Given the description of an element on the screen output the (x, y) to click on. 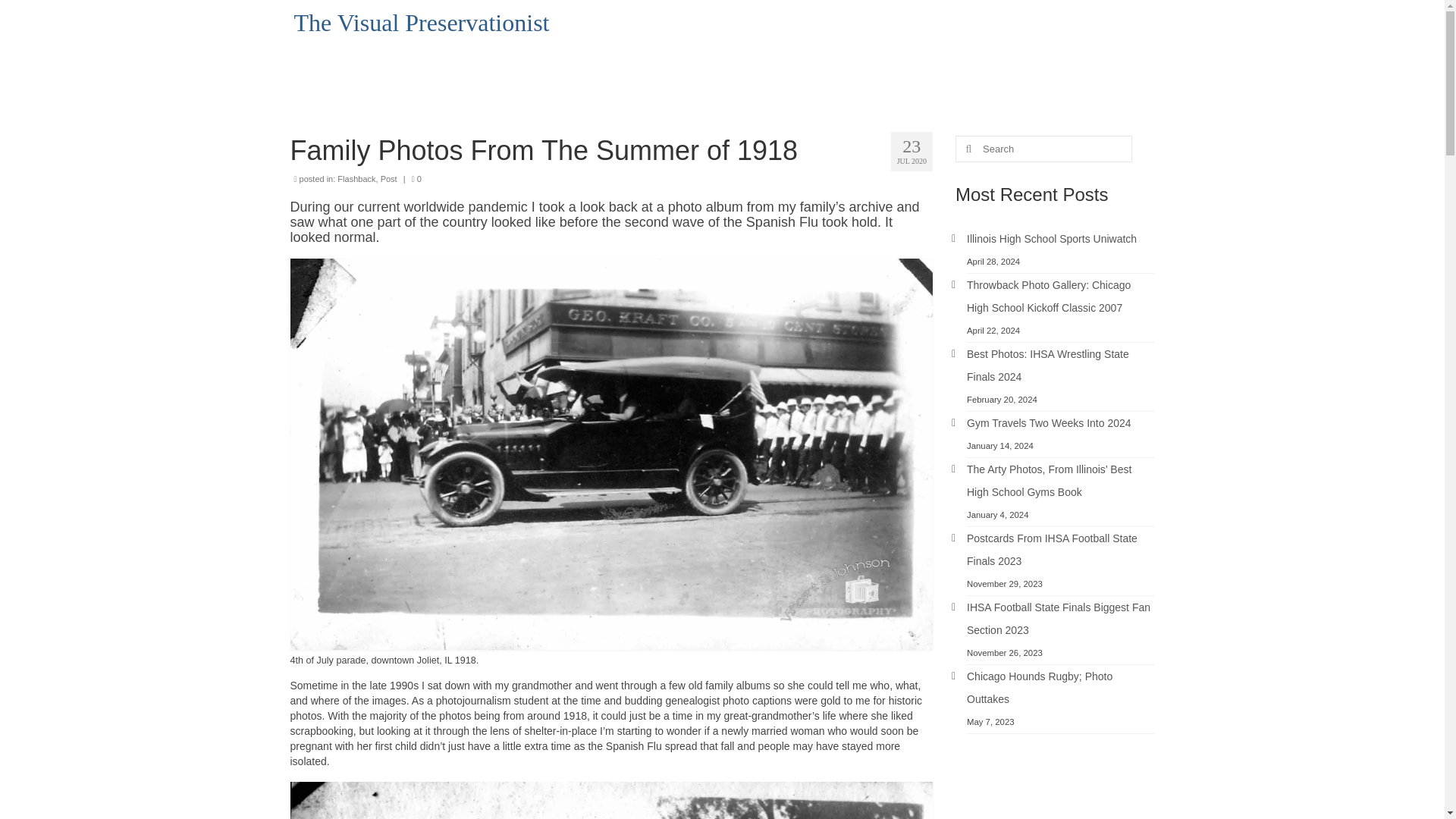
Portfolio (945, 18)
Illinois High School Twitter Database (828, 75)
Flashback (356, 178)
H.S. Sports Photos (1018, 46)
The Visual Preservationist (422, 22)
Connect (1012, 18)
H.S. Uniwatch (970, 75)
Home (761, 18)
Best Photos: IHSA Wrestling State Finals 2024 (1047, 365)
Post (388, 178)
Illinois High School Sports Uniwatch (1051, 238)
